Given the description of an element on the screen output the (x, y) to click on. 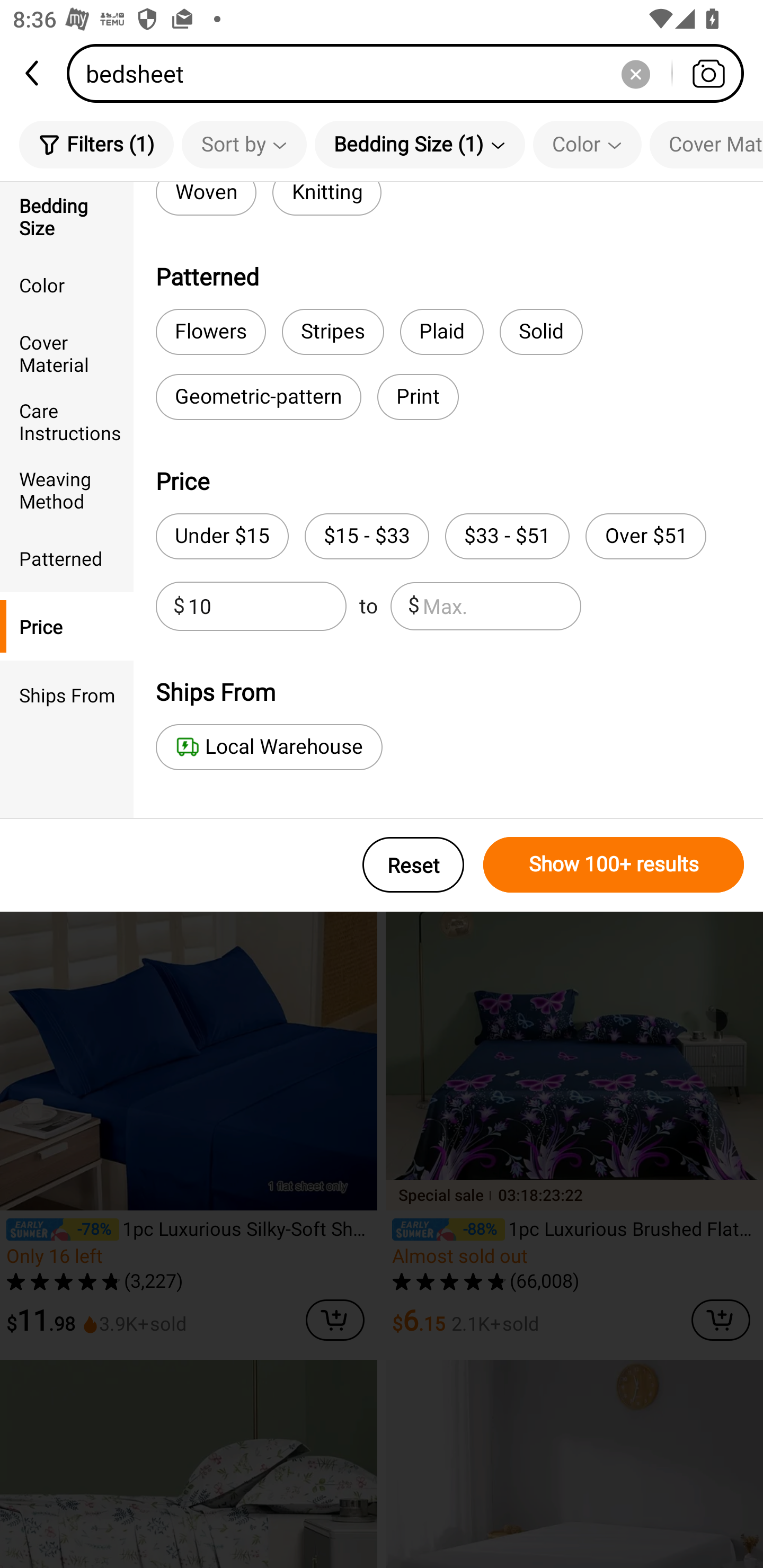
back (33, 72)
bedsheet (411, 73)
Delete search history (635, 73)
Search by photo (708, 73)
Filters (1) (96, 143)
Sort by (243, 143)
Bedding Size (1) (419, 143)
Color (587, 143)
Cover Material (706, 143)
Bedding Size (66, 215)
Woven (205, 198)
Knitting (326, 198)
bed sheet set (232, 271)
Color (66, 284)
Flowers (210, 331)
Stripes (332, 331)
Plaid (441, 331)
Solid (540, 331)
Cover Material (66, 352)
Geometric-pattern (258, 397)
